Given the description of an element on the screen output the (x, y) to click on. 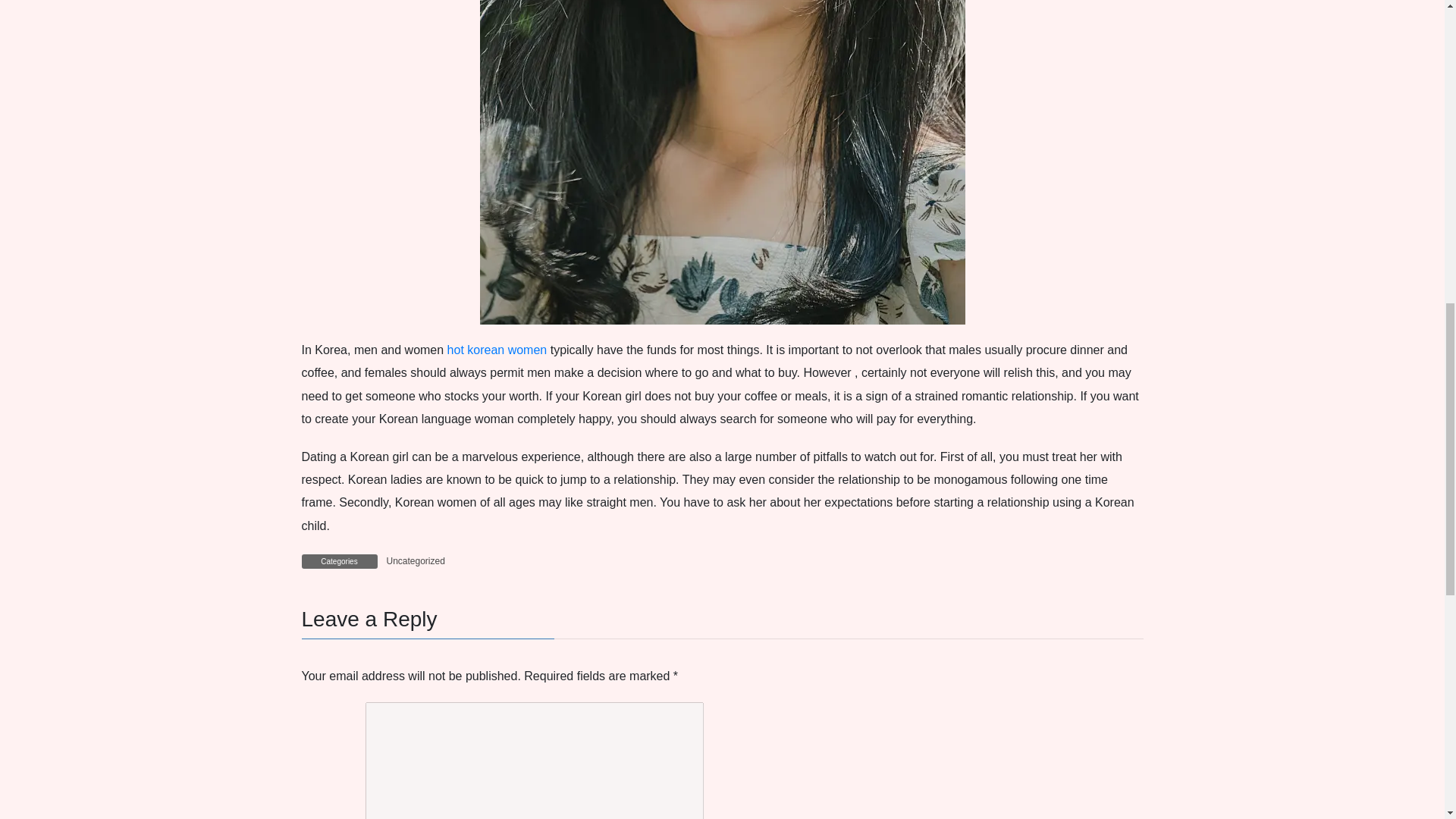
hot korean women (496, 349)
Uncategorized (415, 561)
